Given the description of an element on the screen output the (x, y) to click on. 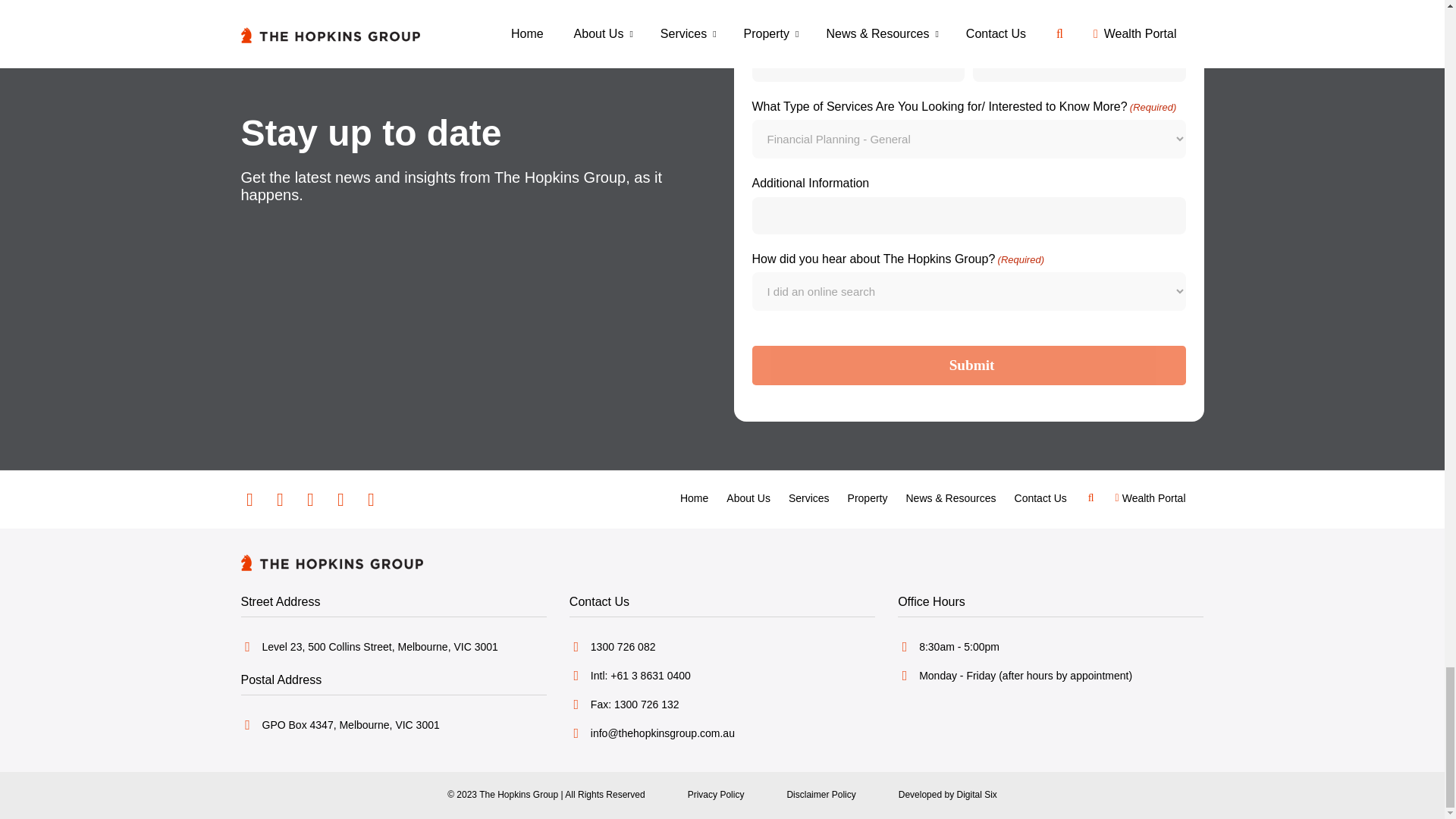
Submit (969, 364)
International phone us (722, 675)
Phone us (722, 646)
Fax (722, 704)
Digital Six (947, 794)
Privacy Policy (716, 794)
Disclaimer Policy (820, 794)
